Given the description of an element on the screen output the (x, y) to click on. 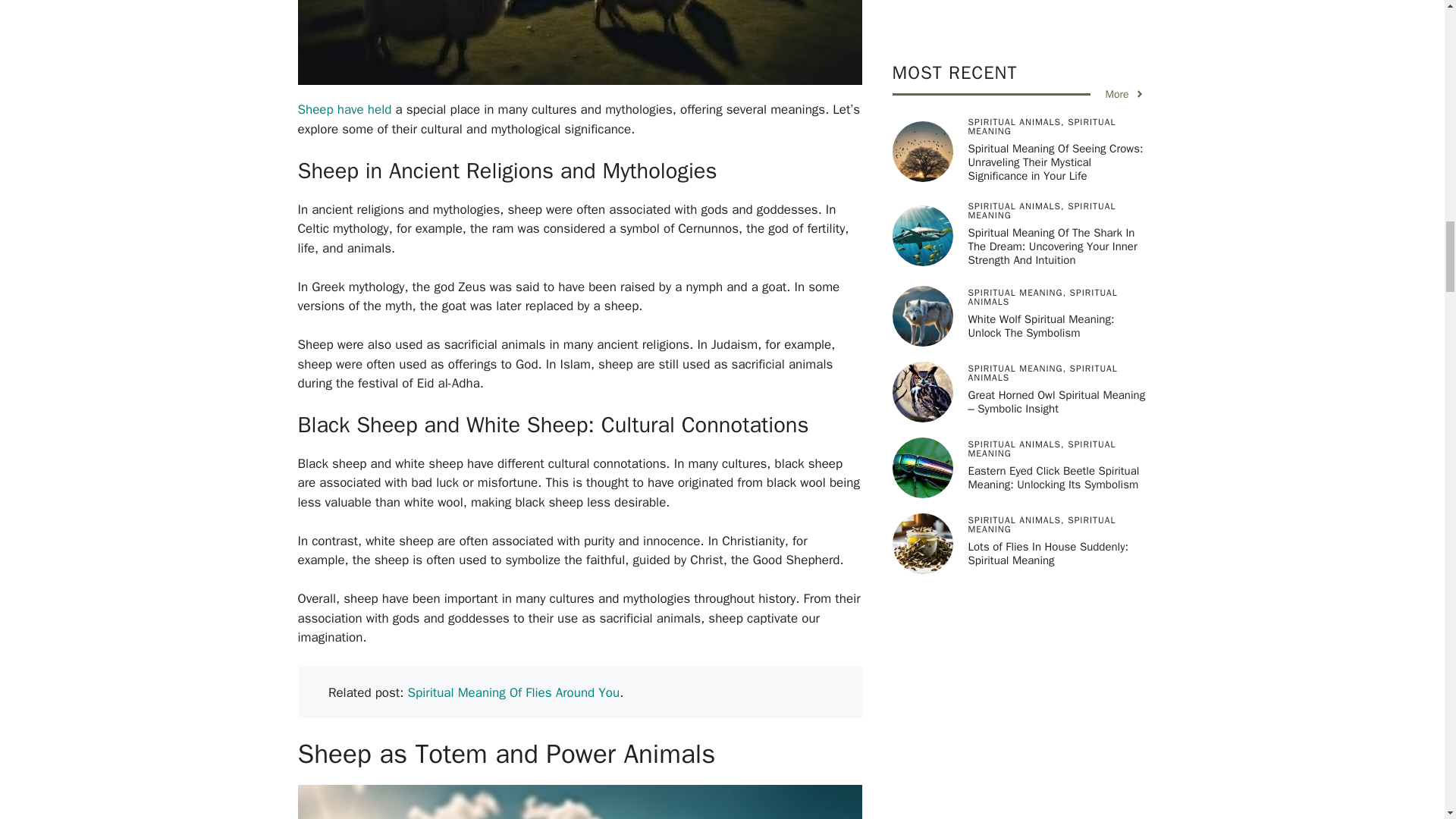
Sheep have held (344, 109)
Spiritual Meaning Of Flies Around You (513, 692)
